Given the description of an element on the screen output the (x, y) to click on. 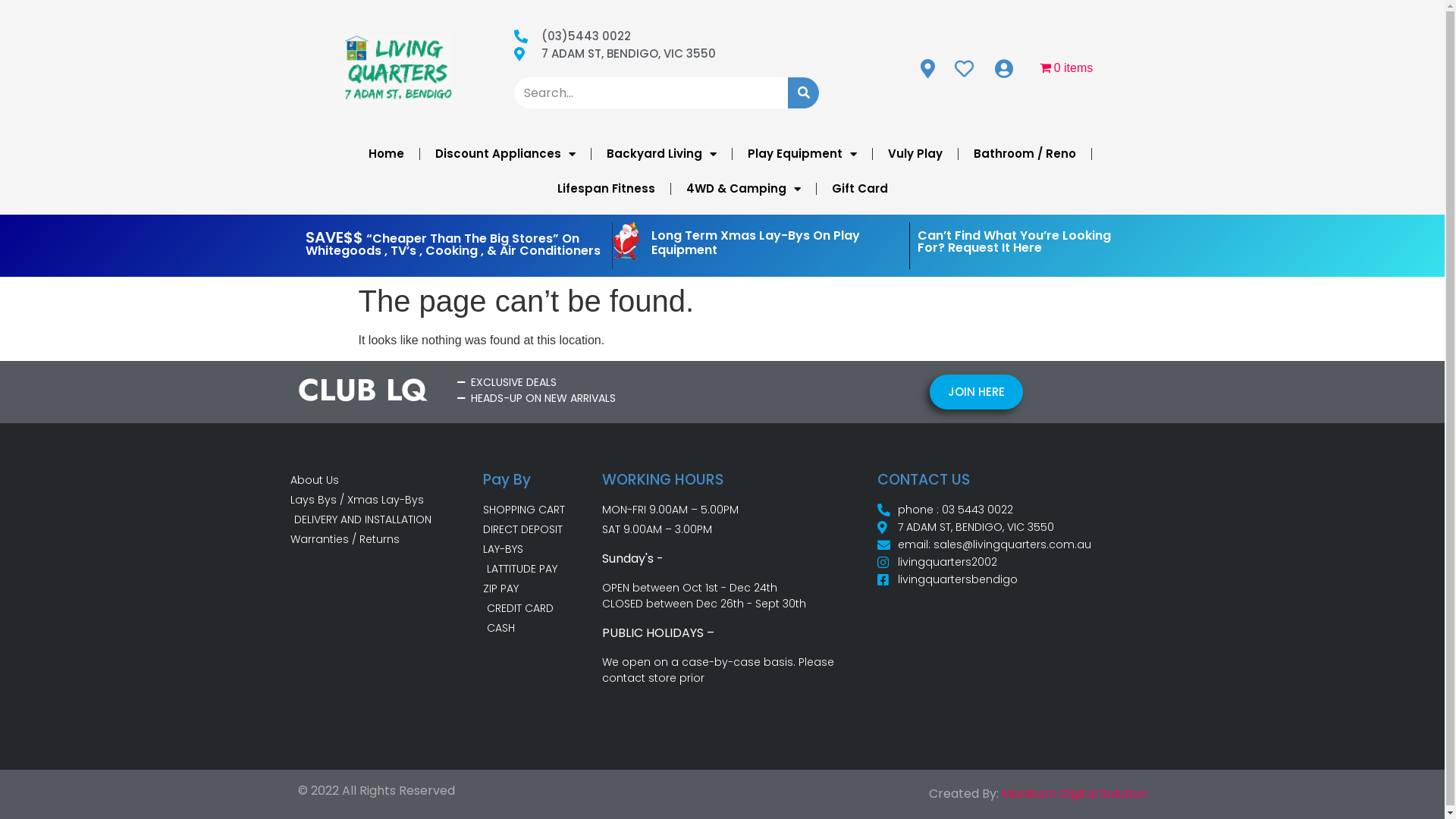
Long Term Xmas Lay-Bys On Play Equipment Element type: text (755, 242)
Lays Bys / Xmas Lay-Bys Element type: text (385, 500)
Warranties / Returns Element type: text (385, 539)
7 ADAM ST, BENDIGO, VIC 3550 Element type: text (1015, 527)
Gift Card Element type: text (858, 188)
Santa-Claus-Download-PNG Element type: hover (625, 240)
0 items Element type: text (1066, 67)
Discount Appliances Element type: text (505, 153)
Backyard Living Element type: text (661, 153)
JOIN HERE Element type: text (975, 392)
7 ADAM ST, BENDIGO, VIC 3550 Element type: text (666, 53)
CLUB LQ Element type: text (361, 389)
About Us Element type: text (385, 480)
(03)5443 0022 Element type: text (666, 36)
DELIVERY AND INSTALLATION Element type: text (385, 519)
Home Element type: text (386, 153)
Manikarn Digital Solution Element type: text (1073, 793)
Bathroom / Reno Element type: text (1024, 153)
Vuly Play Element type: text (914, 153)
Play Equipment Element type: text (802, 153)
phone : 03 5443 0022 Element type: text (1015, 509)
email: sales@livingquarters.com.au Element type: text (1015, 544)
4WD & Camping Element type: text (742, 188)
livingquartersbendigo Element type: text (1015, 579)
Lifespan Fitness Element type: text (605, 188)
livingquarters2002 Element type: text (1015, 562)
